Given the description of an element on the screen output the (x, y) to click on. 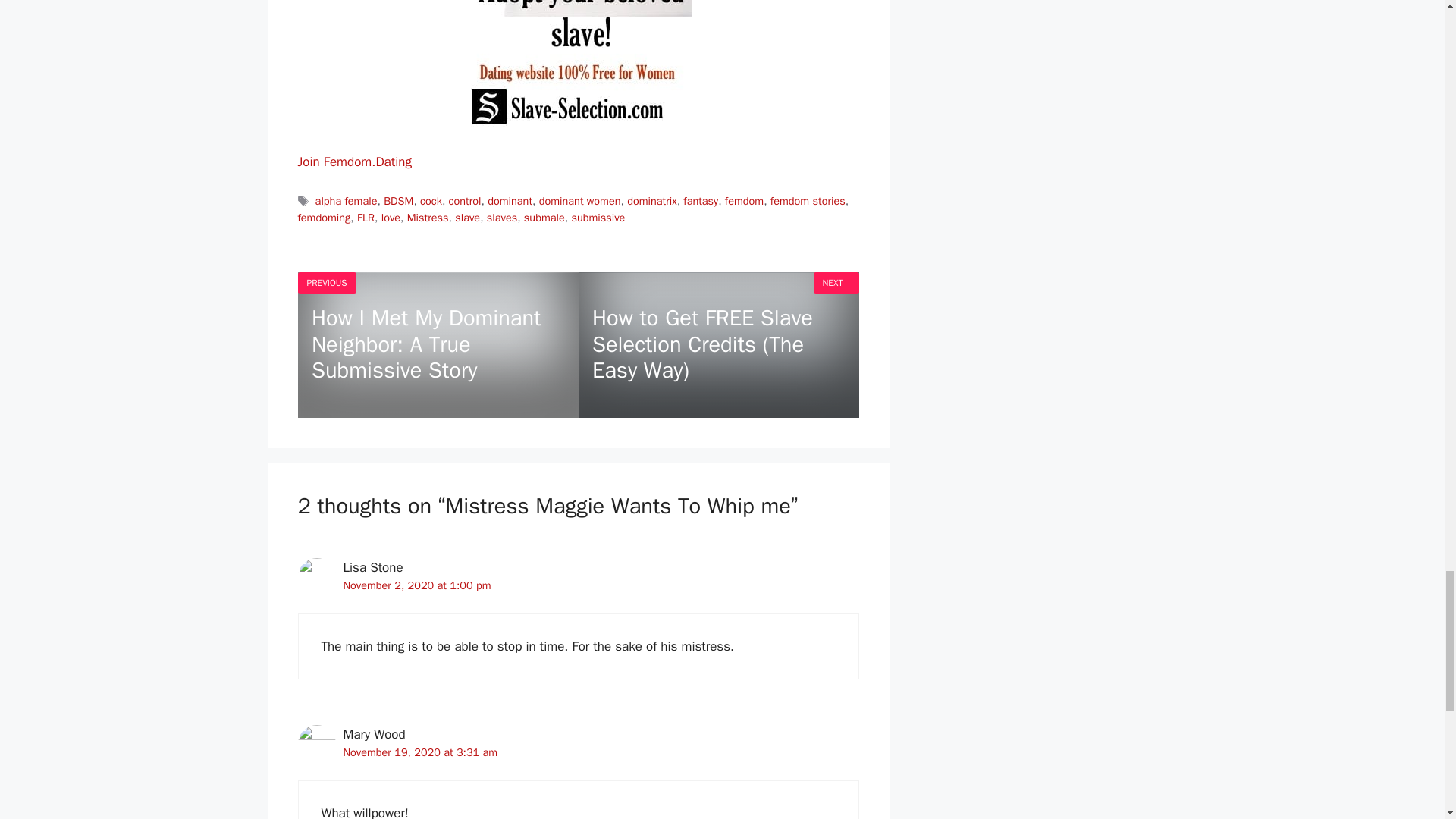
dominant women (579, 201)
fantasy (699, 201)
Join Femdom.Dating (353, 161)
dominant (509, 201)
alpha female (346, 201)
control (464, 201)
cock (431, 201)
dominatrix (652, 201)
BDSM (398, 201)
